Given the description of an element on the screen output the (x, y) to click on. 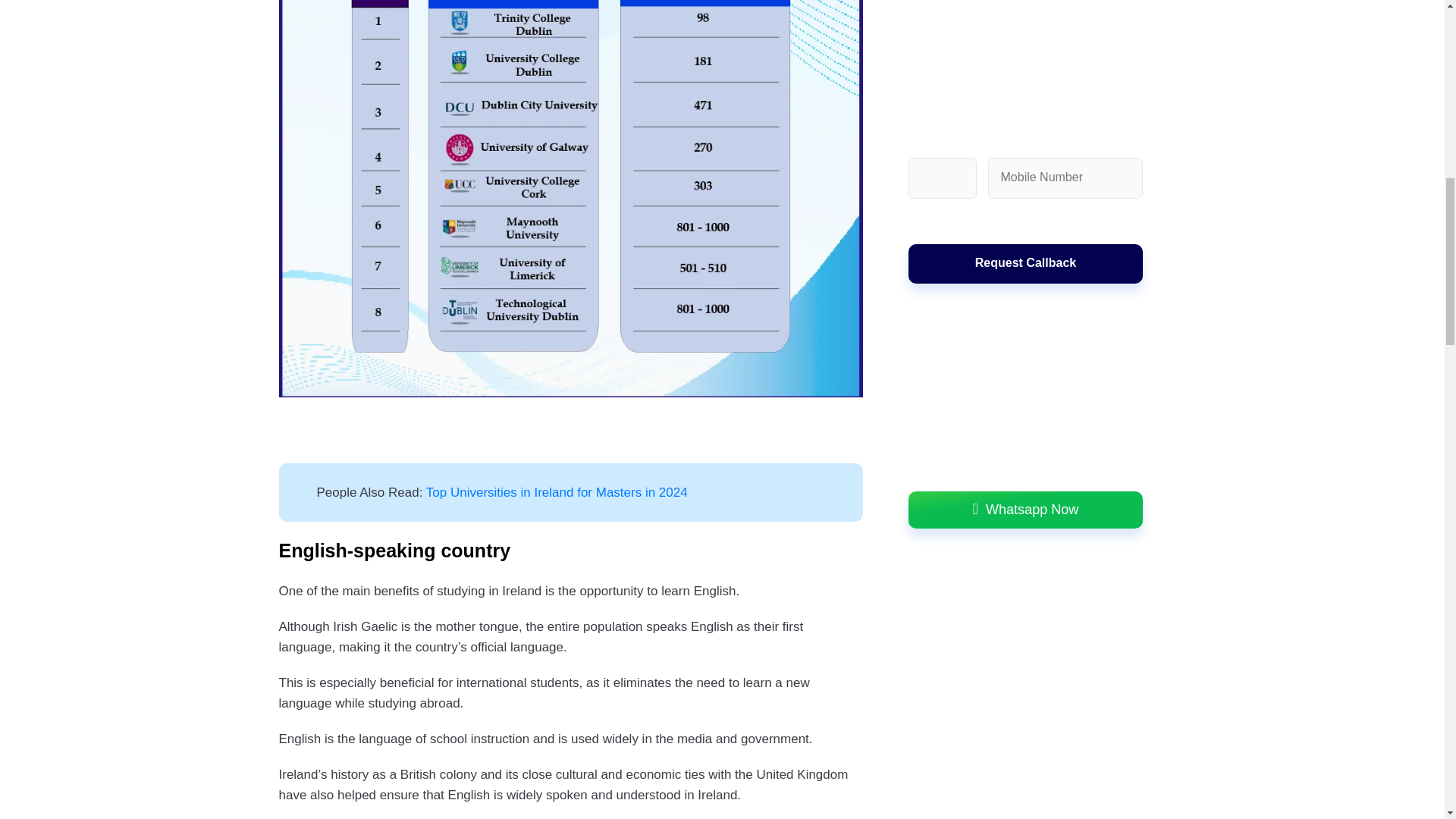
Top Universities in Ireland for Masters in 2024 (556, 492)
